Given the description of an element on the screen output the (x, y) to click on. 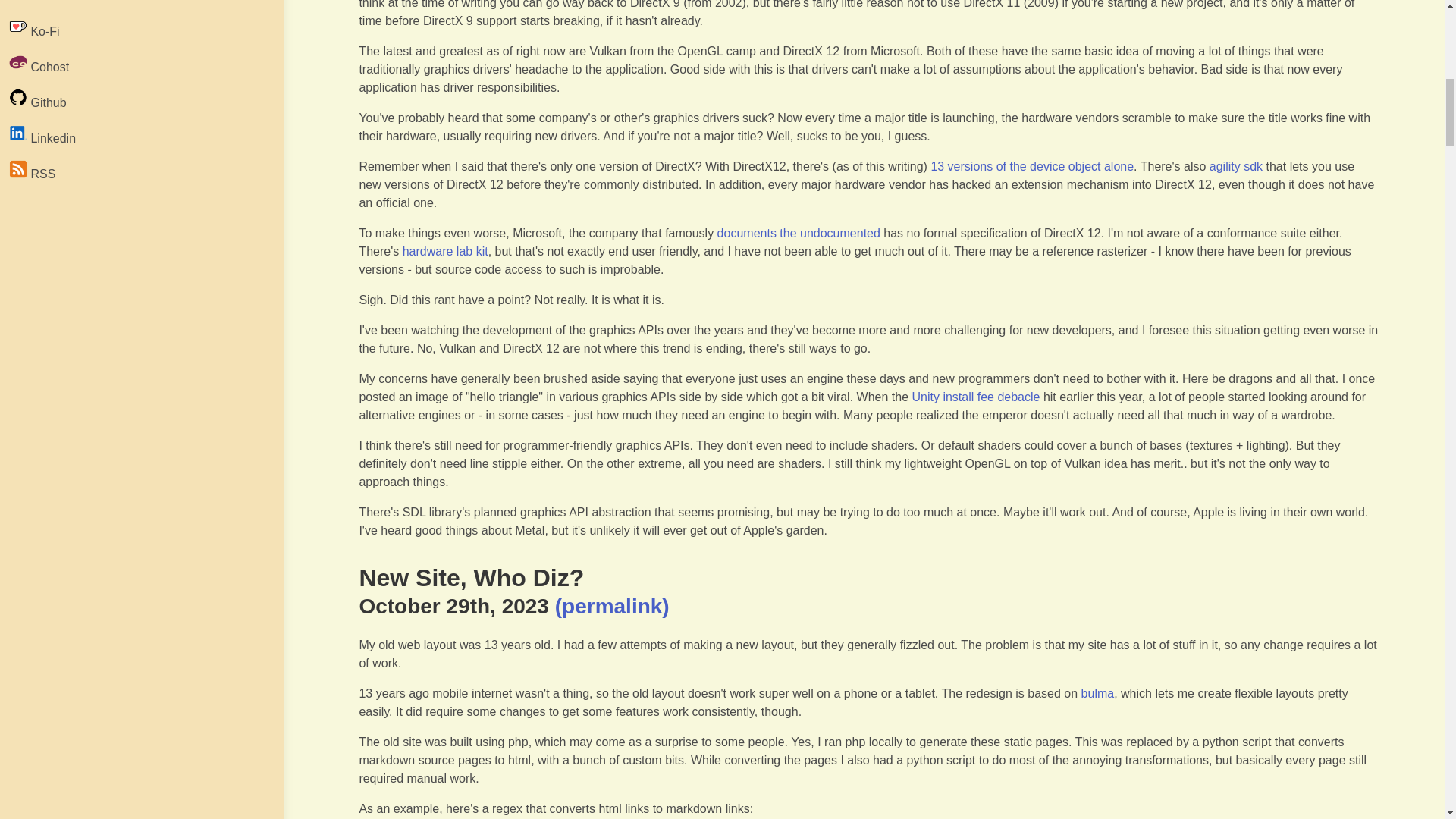
 Linkedin (137, 135)
 RSS (137, 171)
 Discord (137, 5)
 Github (137, 99)
 Ko-Fi (137, 28)
 Cohost (137, 64)
